Given the description of an element on the screen output the (x, y) to click on. 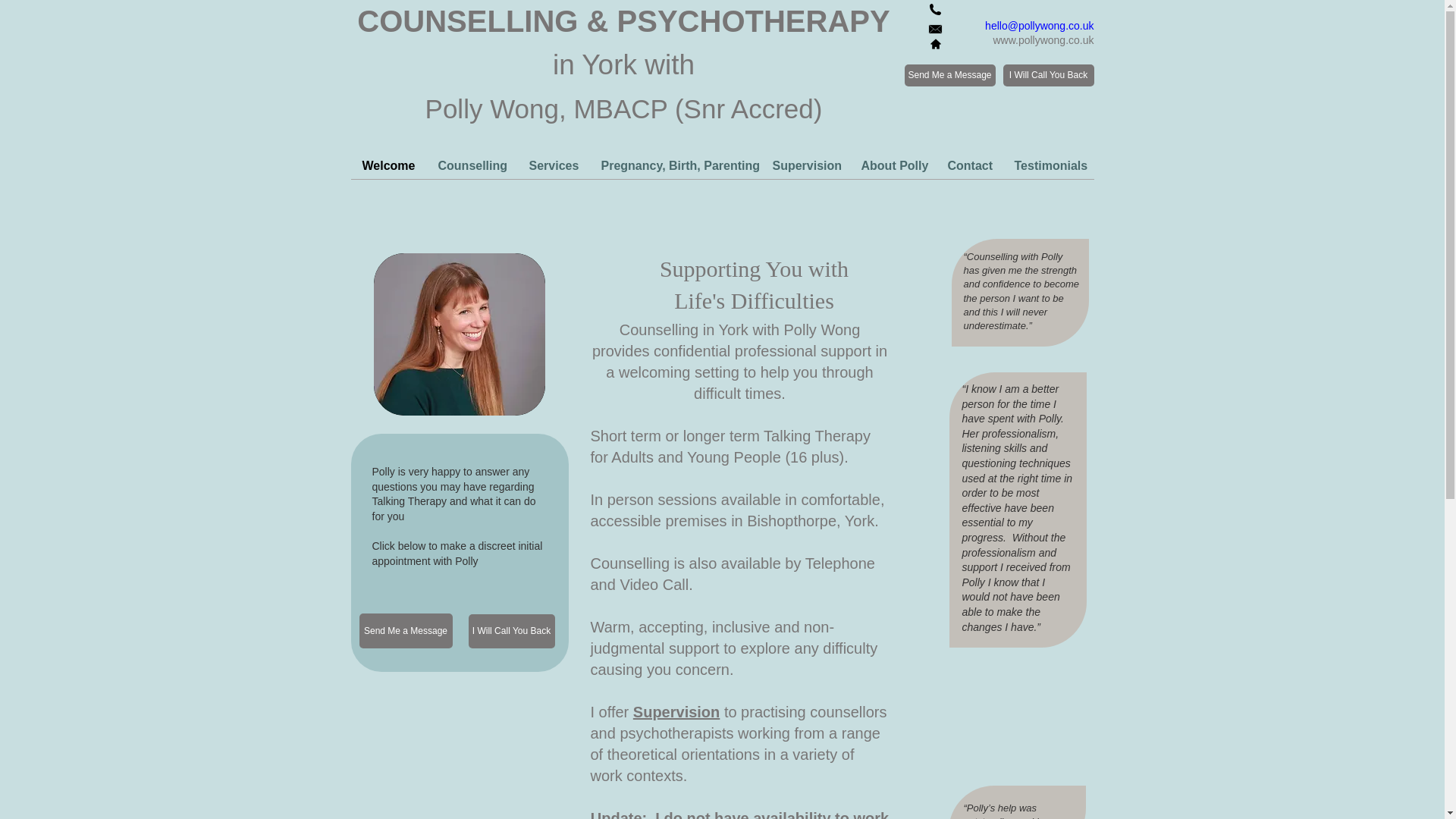
Contact (969, 165)
Services (552, 165)
Welcome (388, 165)
Supervision (805, 165)
I Will Call You Back (511, 631)
I Will Call You Back (1048, 75)
Send Me a Message (949, 75)
Send Me a Message (405, 630)
Testimonials (1048, 165)
www.pollywong.co.uk (1042, 39)
Supervision (676, 711)
Pregnancy, Birth, Parenting (675, 165)
About Polly (892, 165)
